Given the description of an element on the screen output the (x, y) to click on. 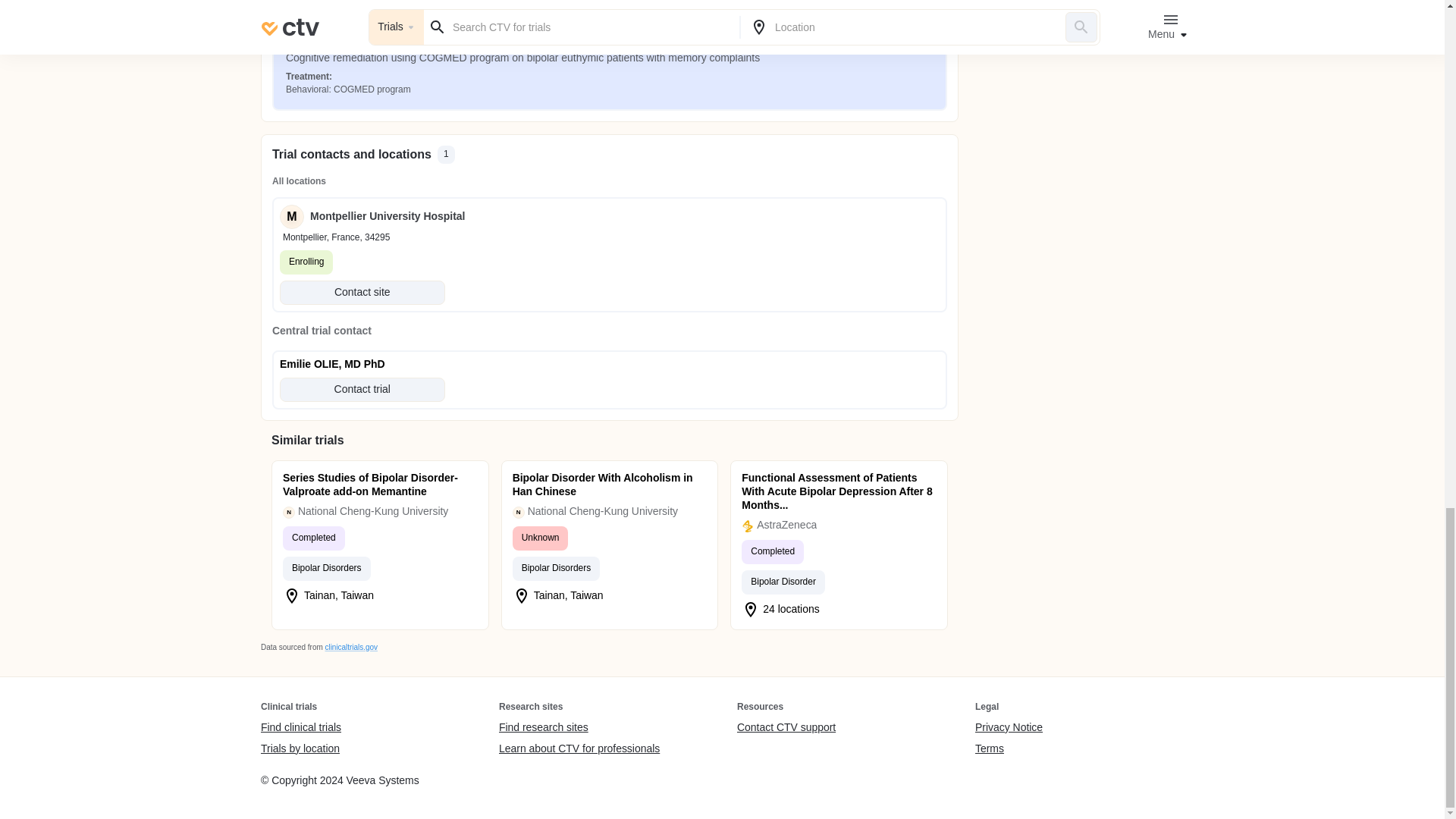
Contact site (362, 292)
Contact trial (362, 389)
Contact CTV support (785, 727)
clinicaltrials.gov (350, 646)
Privacy Notice (1008, 727)
Learn about CTV for professionals (579, 748)
Find clinical trials (300, 727)
